Given the description of an element on the screen output the (x, y) to click on. 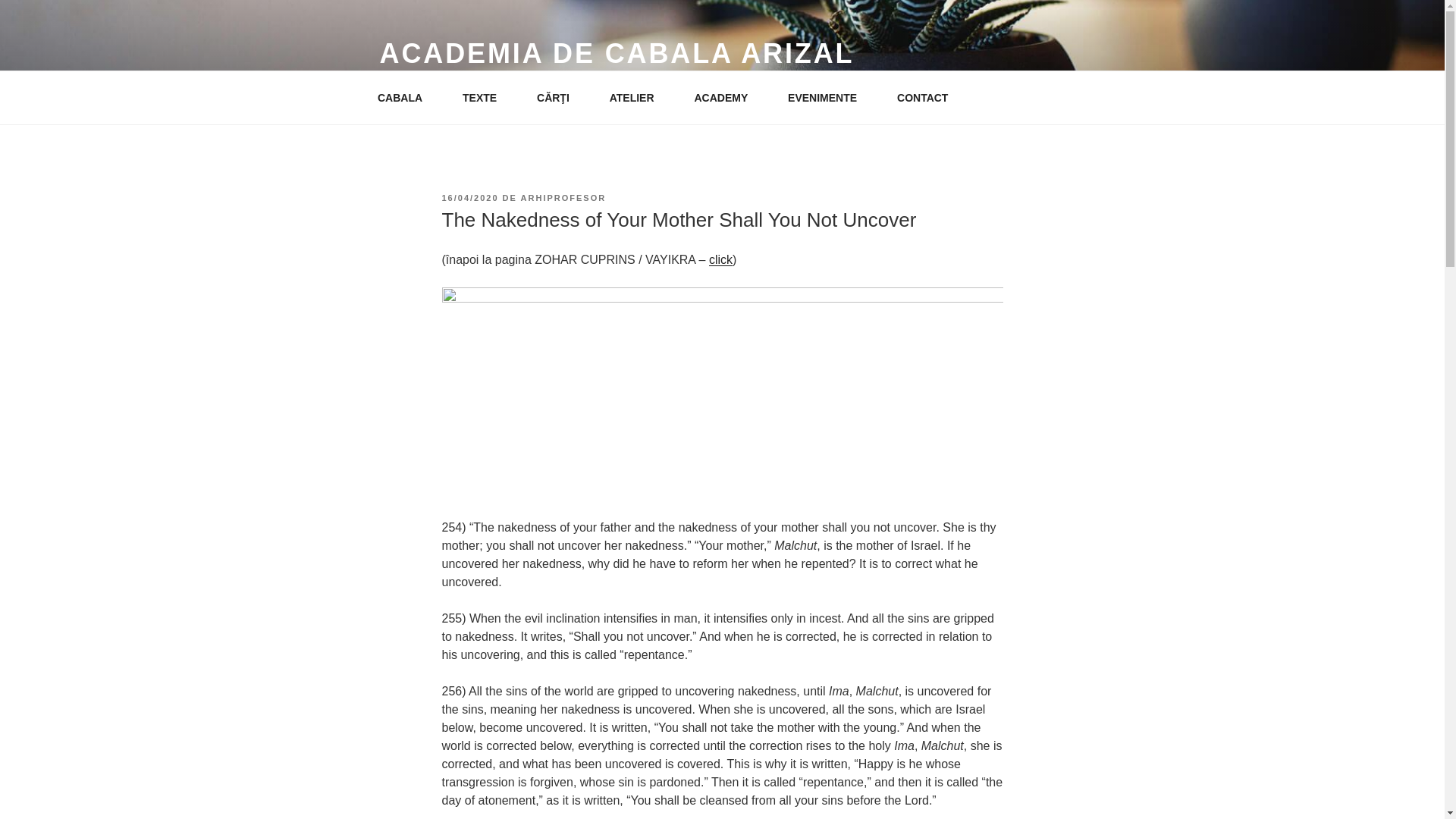
EVENIMENTE (827, 97)
ACADEMIA DE CABALA ARIZAL (615, 52)
CONTACT (927, 97)
CABALA (404, 97)
TEXTE (483, 97)
ATELIER (636, 97)
ACADEMY (726, 97)
